Given the description of an element on the screen output the (x, y) to click on. 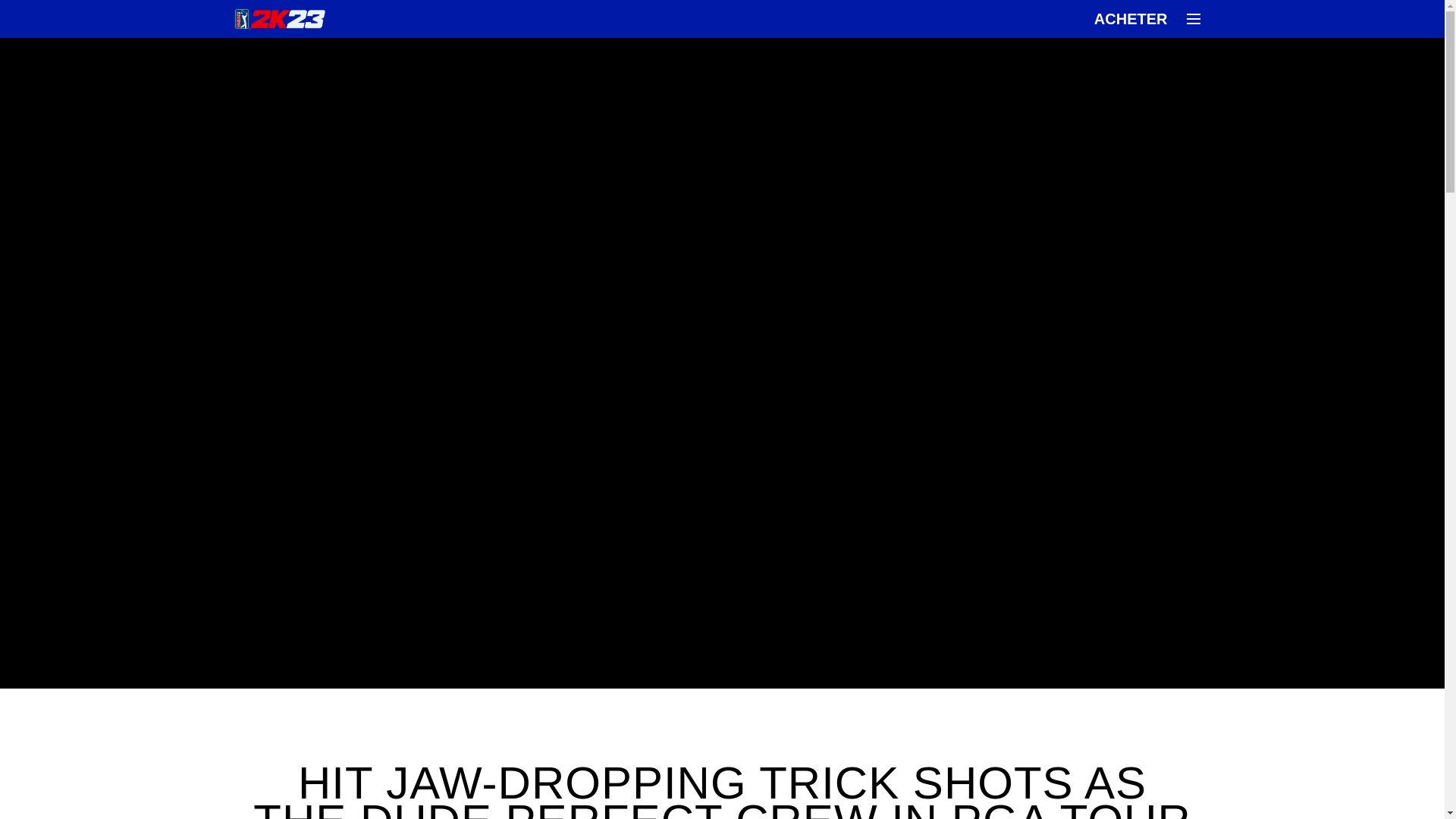
PGA TOUR 2K23 (279, 18)
Acheter (1130, 19)
ACHETER (1130, 19)
